Given the description of an element on the screen output the (x, y) to click on. 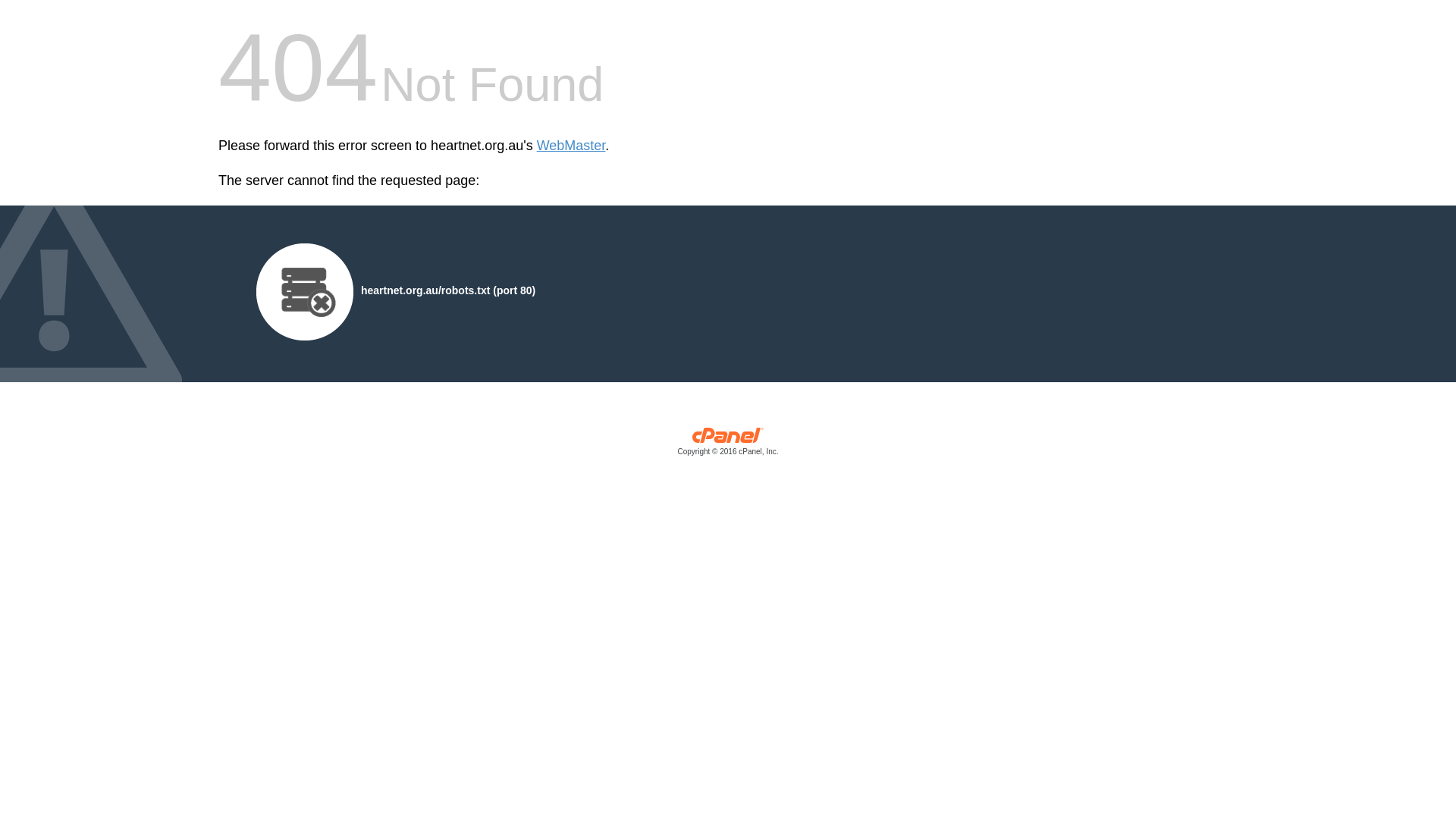
WebMaster Element type: text (570, 145)
